Given the description of an element on the screen output the (x, y) to click on. 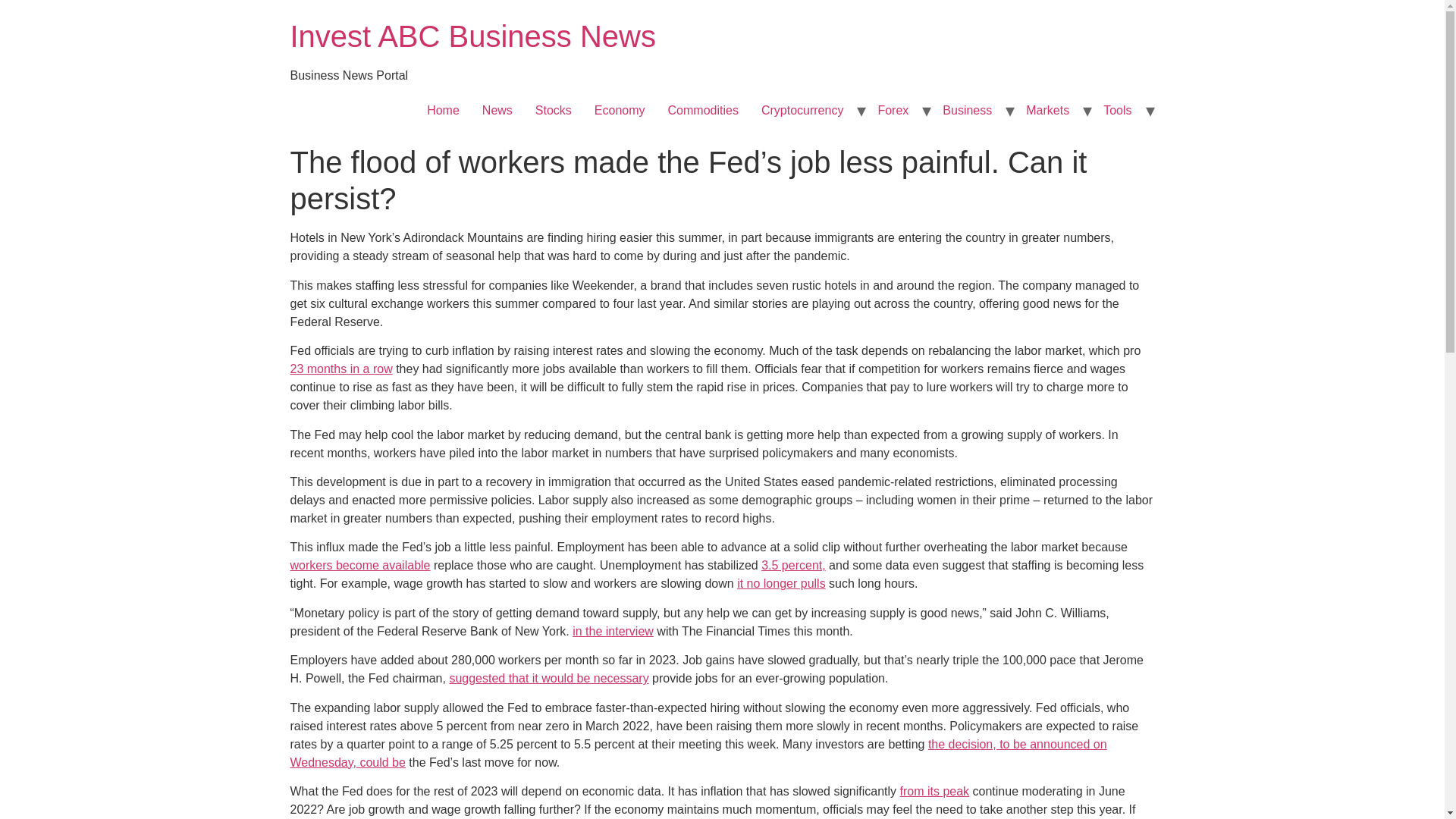
Invest ABC Business News (472, 36)
Markets (1047, 110)
Economy (619, 110)
Home (472, 36)
Commodities (702, 110)
News (497, 110)
Cryptocurrency (801, 110)
Home (442, 110)
Tools (1117, 110)
Forex (893, 110)
Stocks (553, 110)
Business (967, 110)
